Given the description of an element on the screen output the (x, y) to click on. 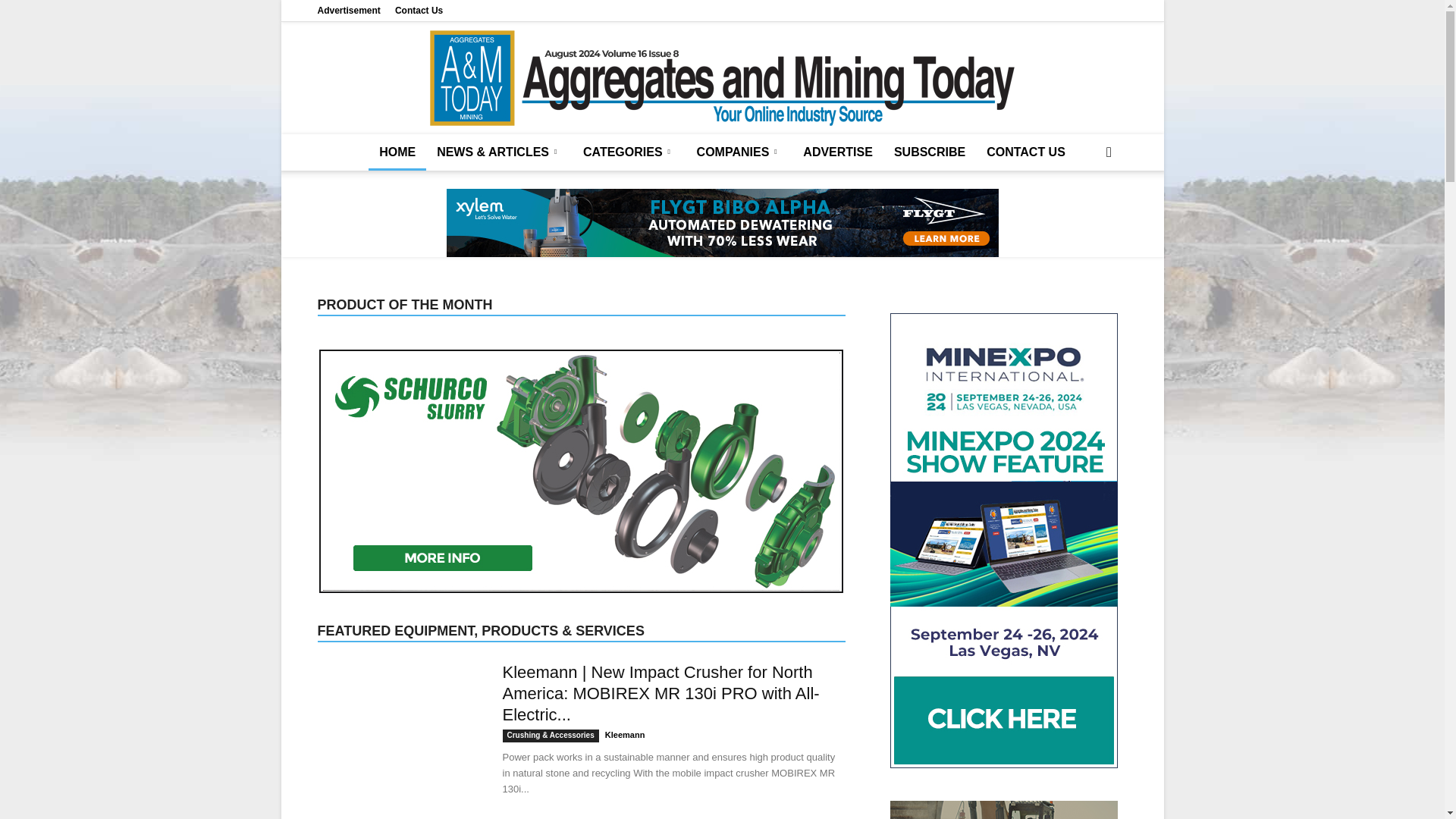
Facebook (1040, 10)
Youtube (1114, 10)
Linkedin (1065, 10)
Twitter (1090, 10)
